Given the description of an element on the screen output the (x, y) to click on. 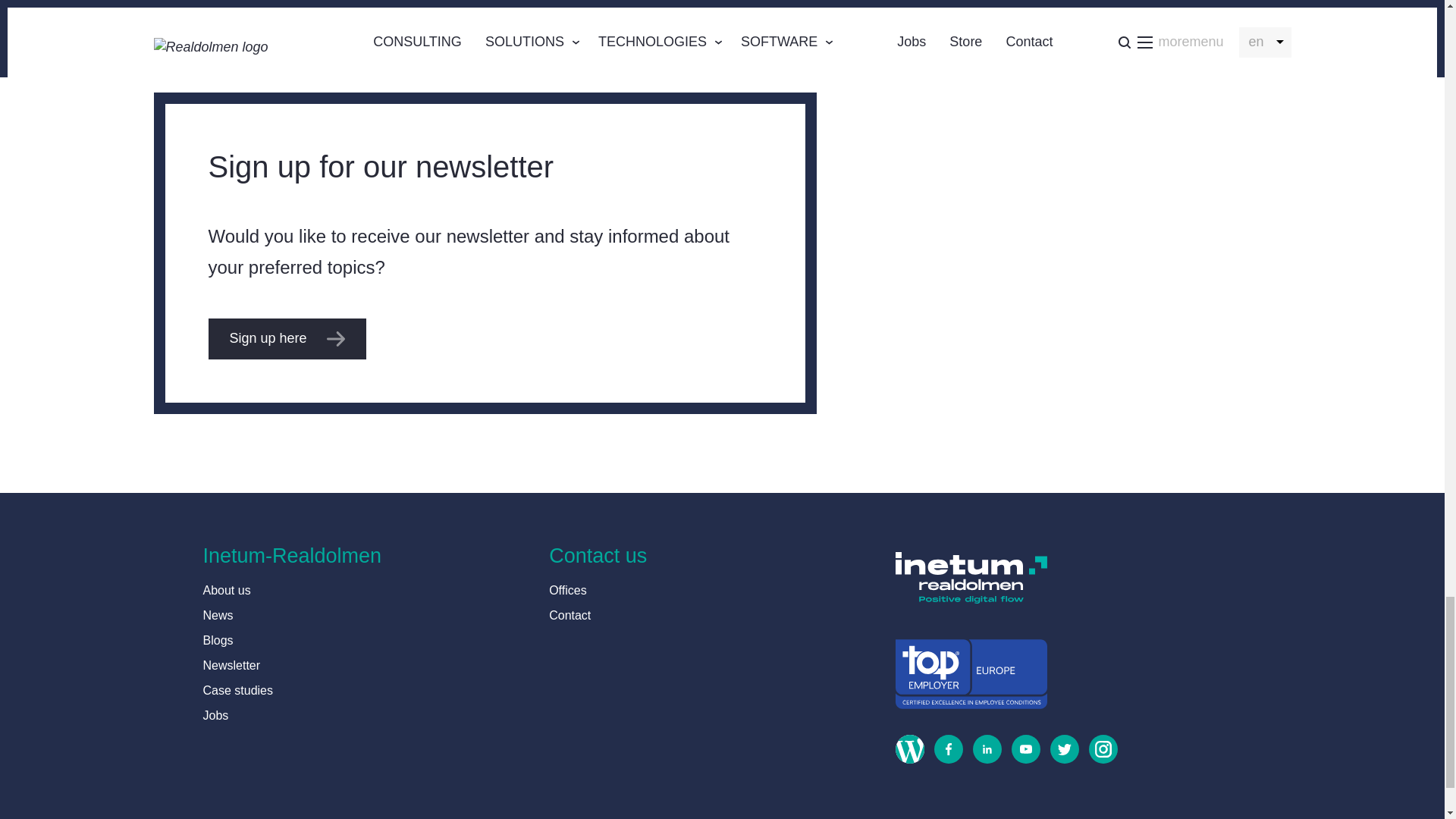
Blog (904, 753)
Instagram (1098, 753)
Facebook (943, 753)
Youtube (1021, 753)
LinkedIn (981, 753)
Twitter (1059, 753)
